Given the description of an element on the screen output the (x, y) to click on. 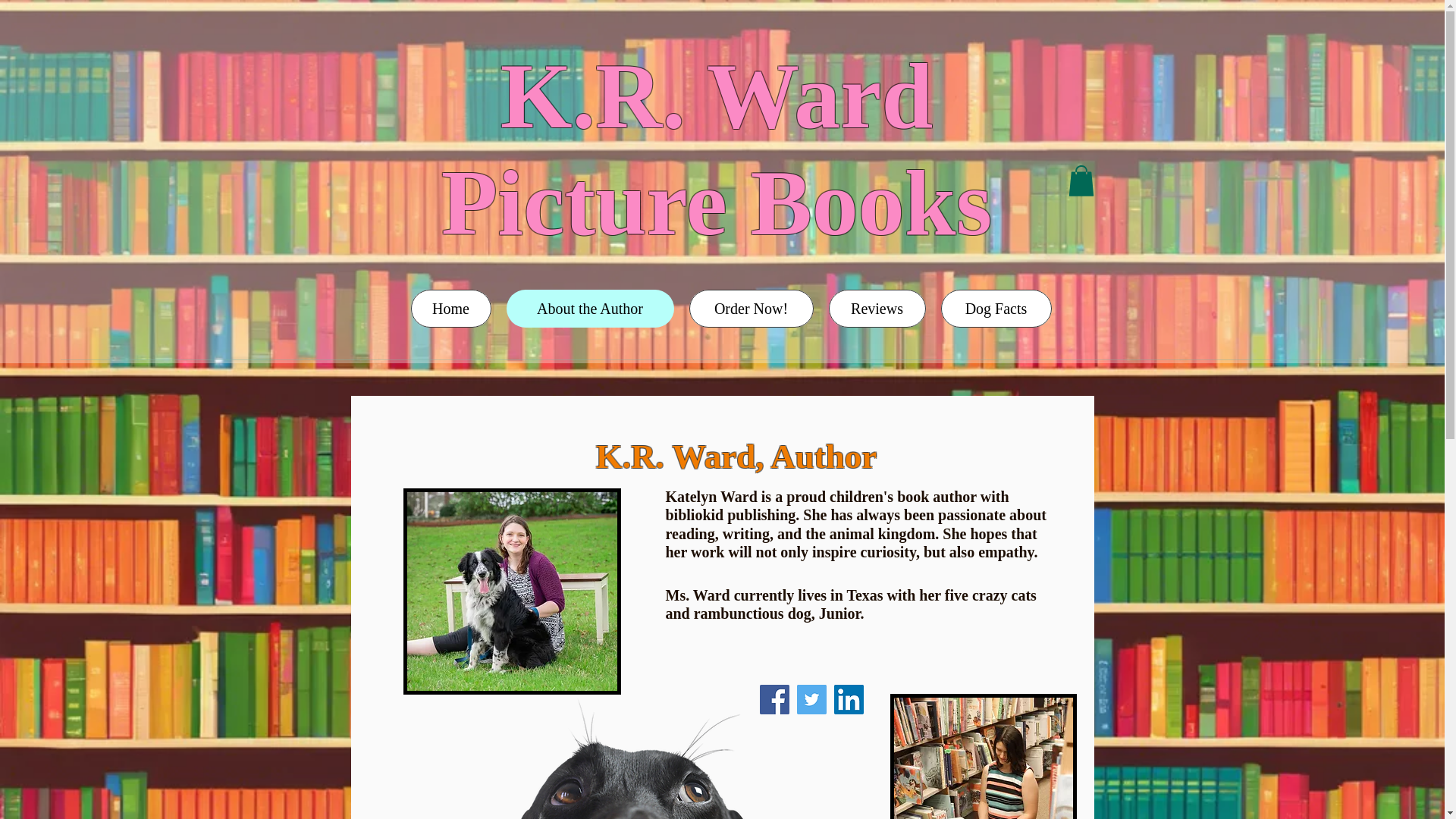
Order Now! (750, 308)
Reviews (876, 308)
About the Author (590, 308)
Home (451, 308)
Dog Facts (716, 149)
